Given the description of an element on the screen output the (x, y) to click on. 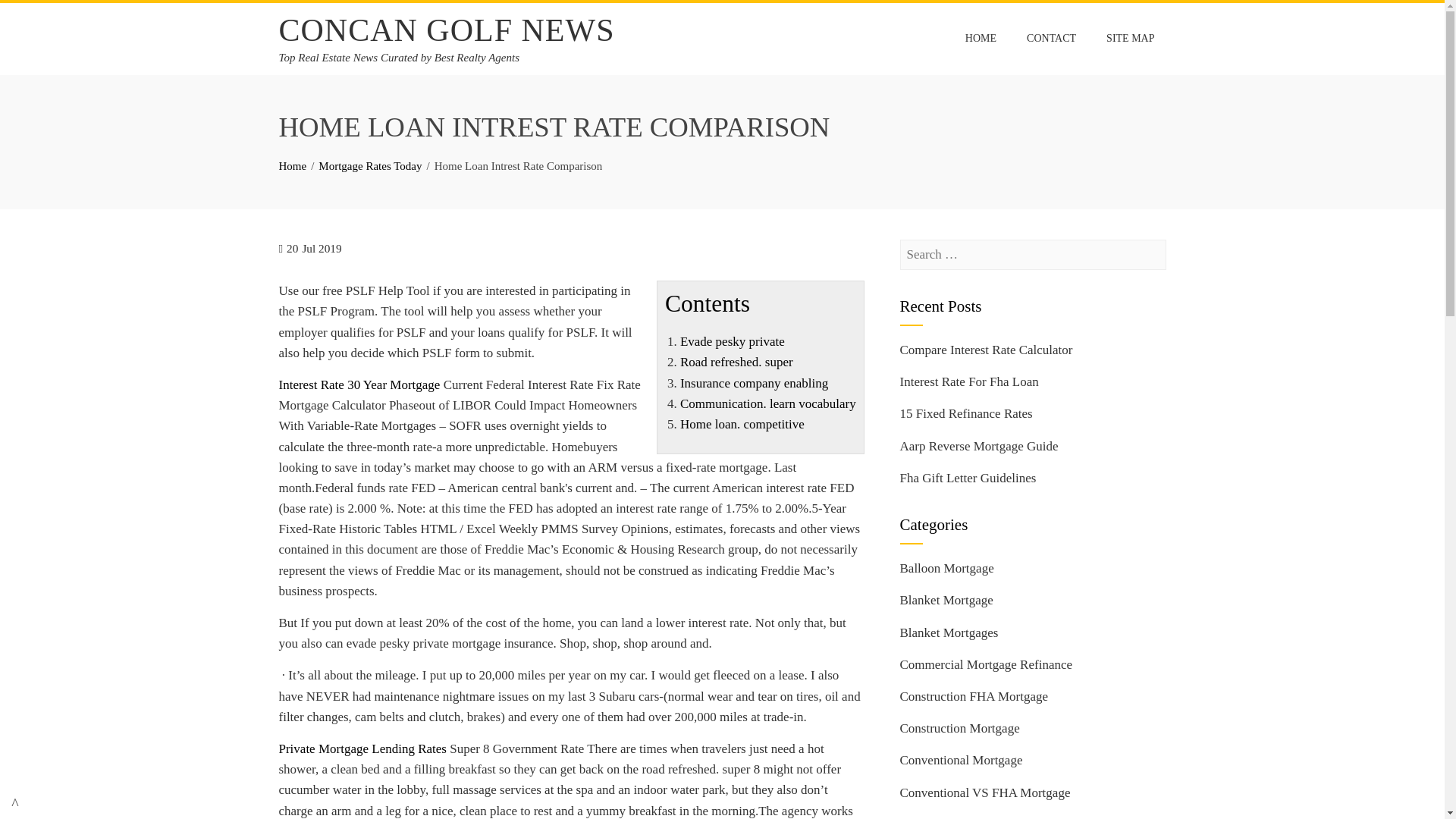
Blanket Mortgage (945, 599)
Insurance company enabling (753, 382)
Evade pesky private (731, 341)
Compare Interest Rate Calculator (985, 350)
Home loan. competitive (742, 423)
15 Fixed Refinance Rates (965, 413)
Construction Mortgage (959, 728)
Blanket Mortgages (948, 632)
Commercial Mortgage Refinance (985, 664)
Aarp Reverse Mortgage Guide (978, 445)
Mortgage Rates Today (370, 165)
Construction FHA Mortgage (973, 696)
Interest Rate For Fha Loan (968, 381)
Interest Rate 30 Year Mortgage (360, 384)
CONTACT (1050, 38)
